Given the description of an element on the screen output the (x, y) to click on. 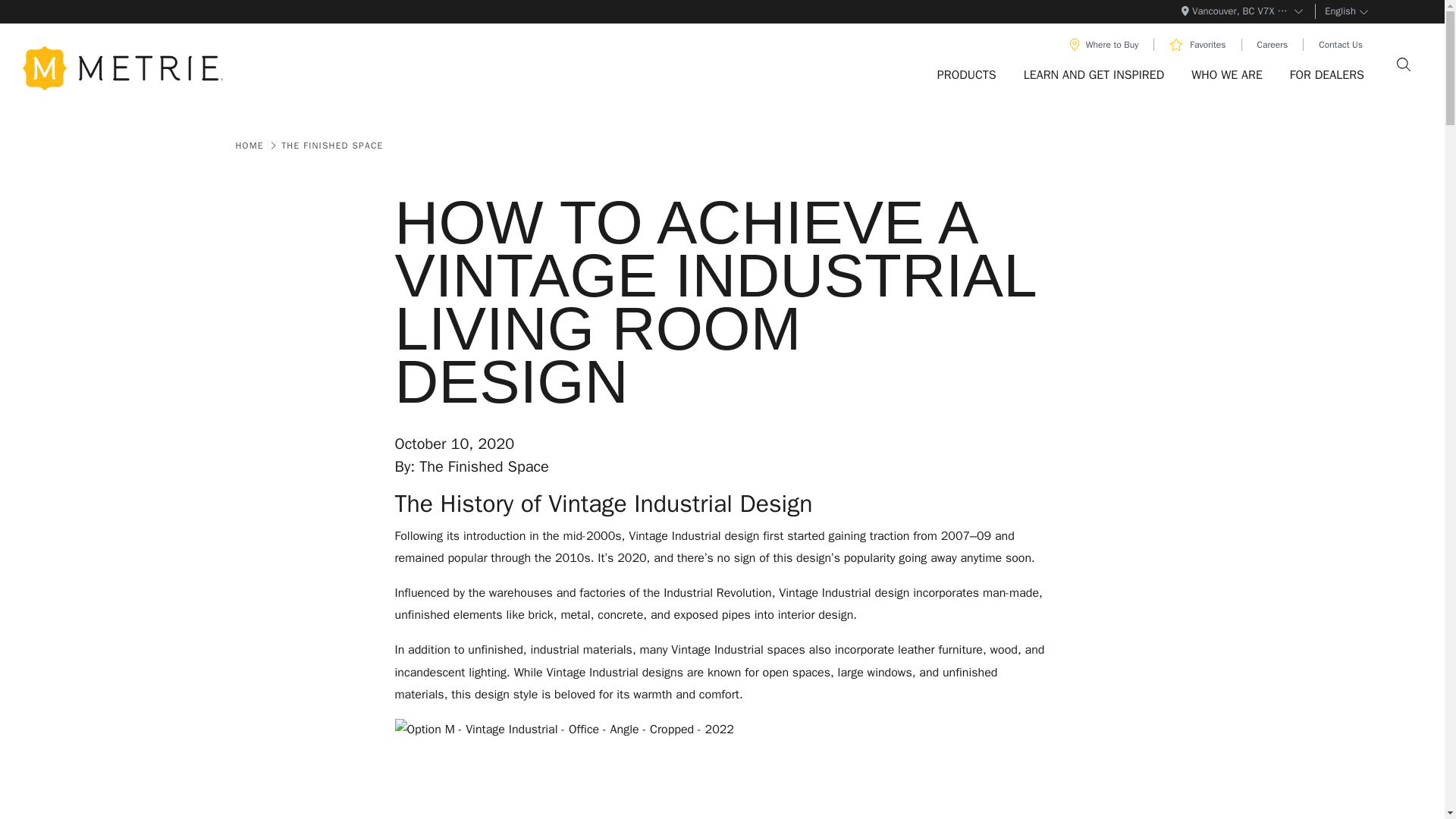
Careers (1272, 44)
LEARN AND GET INSPIRED (1093, 74)
WHO WE ARE (1226, 74)
Contact Us (1340, 44)
Products (966, 74)
For Dealers (1326, 74)
English (1354, 11)
FOR DEALERS (1326, 74)
Vancouver, BC V7X 1H7, Canada (1242, 11)
Who We Are (1226, 74)
PRODUCTS (966, 74)
HOME (248, 145)
Learn and Get Inspired (1093, 74)
THE FINISHED SPACE (331, 145)
Where to Buy (1104, 44)
